Given the description of an element on the screen output the (x, y) to click on. 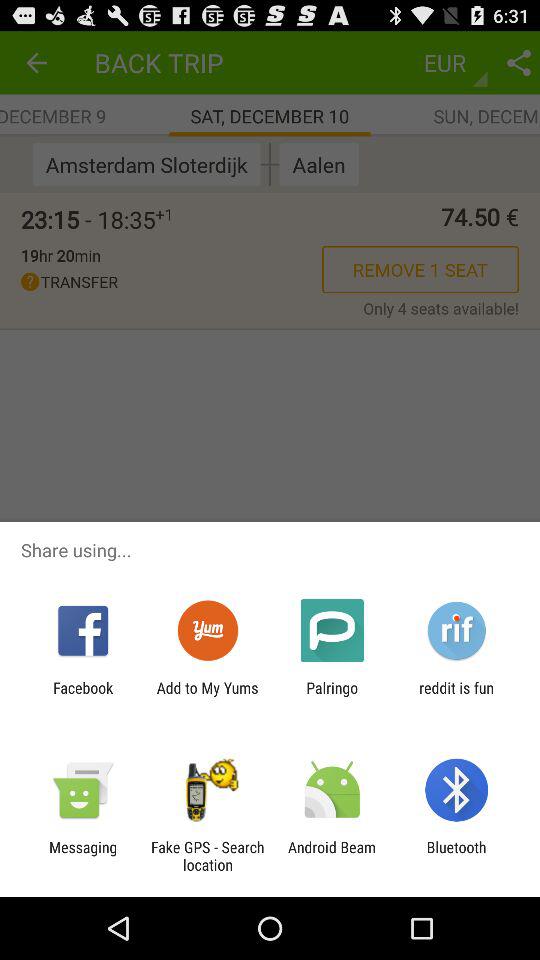
select the item next to the fake gps search (83, 856)
